Given the description of an element on the screen output the (x, y) to click on. 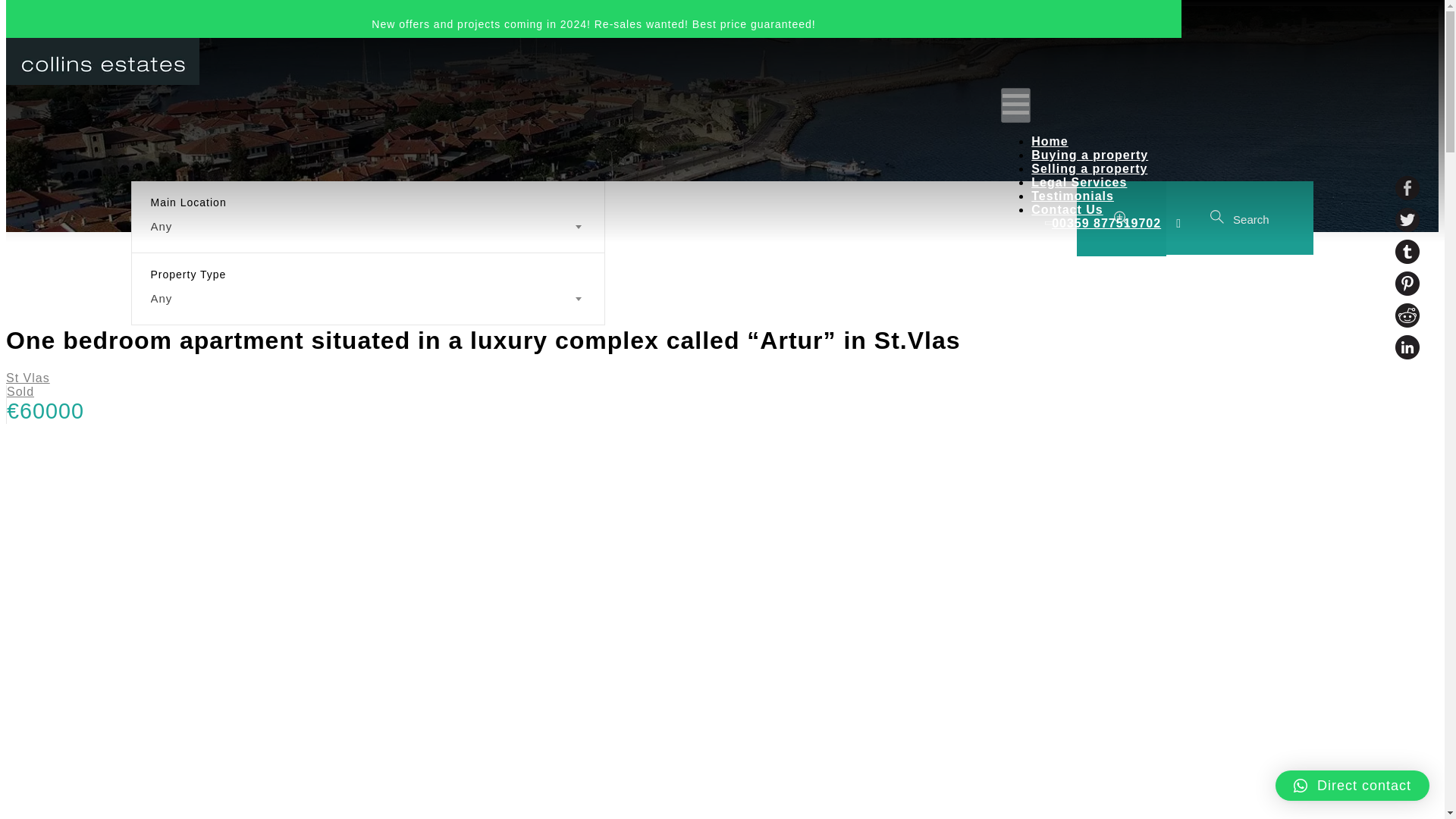
Buying a property (1089, 154)
Any (367, 298)
St Vlas (27, 377)
Contact Us (1066, 209)
Home (1048, 141)
Selling a property (1088, 168)
Direct contact (1352, 785)
Buying a property (1089, 154)
Any (367, 226)
Legal Services (1078, 182)
